Given the description of an element on the screen output the (x, y) to click on. 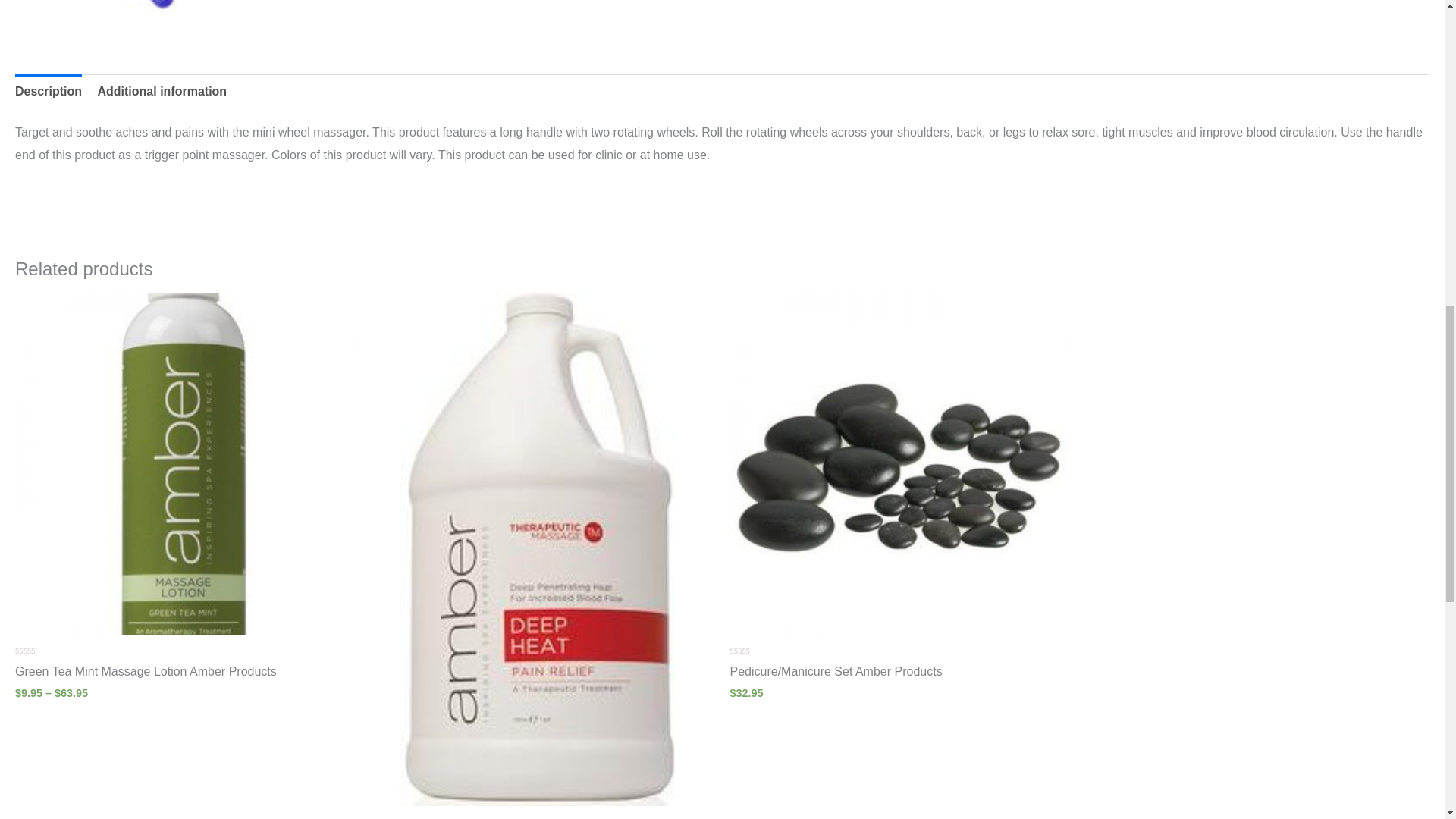
Green Tea Mint Massage Lotion Amber Products (185, 675)
Description (47, 91)
Additional information (162, 91)
